Given the description of an element on the screen output the (x, y) to click on. 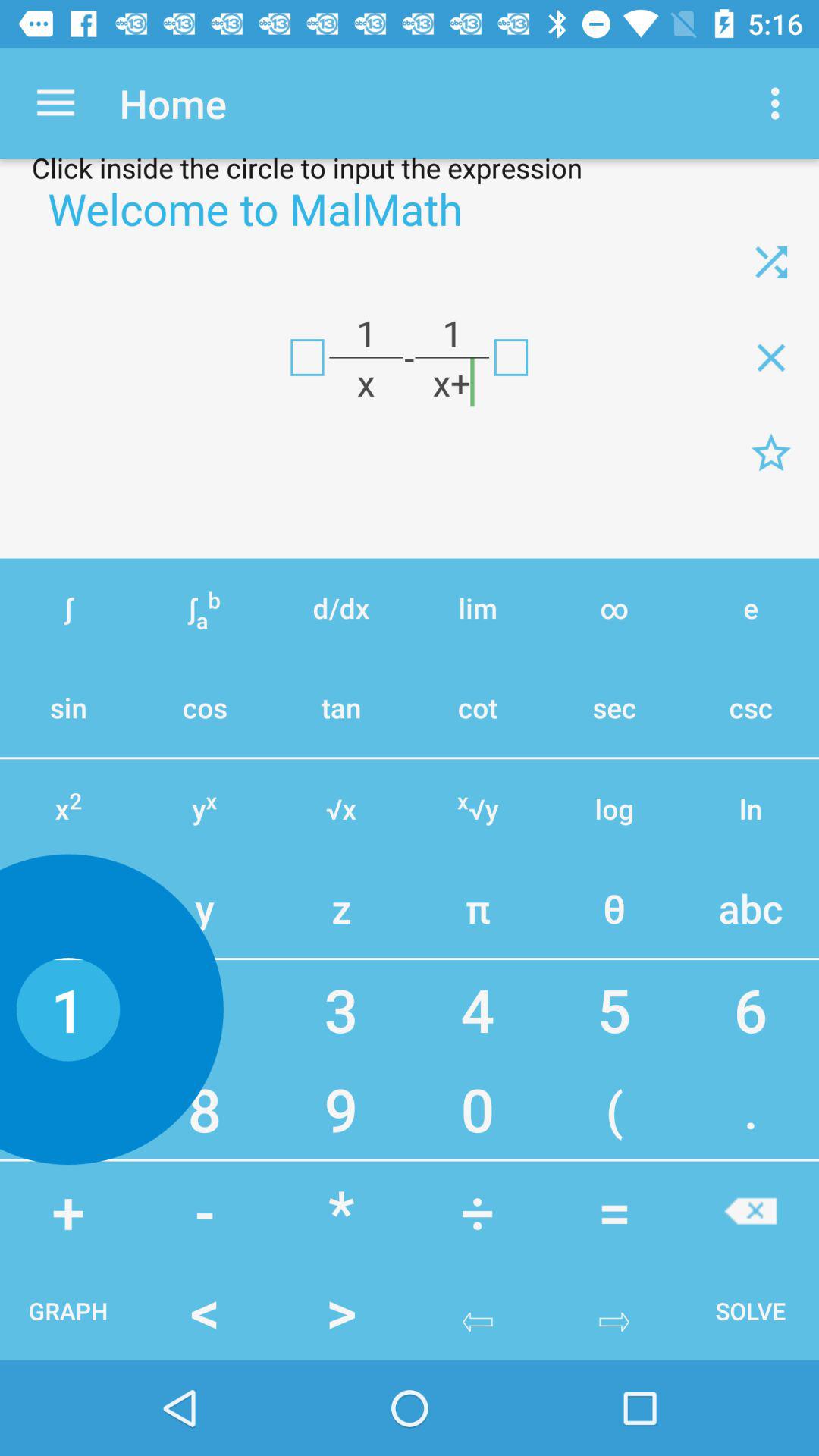
multiplecation (771, 357)
